Given the description of an element on the screen output the (x, y) to click on. 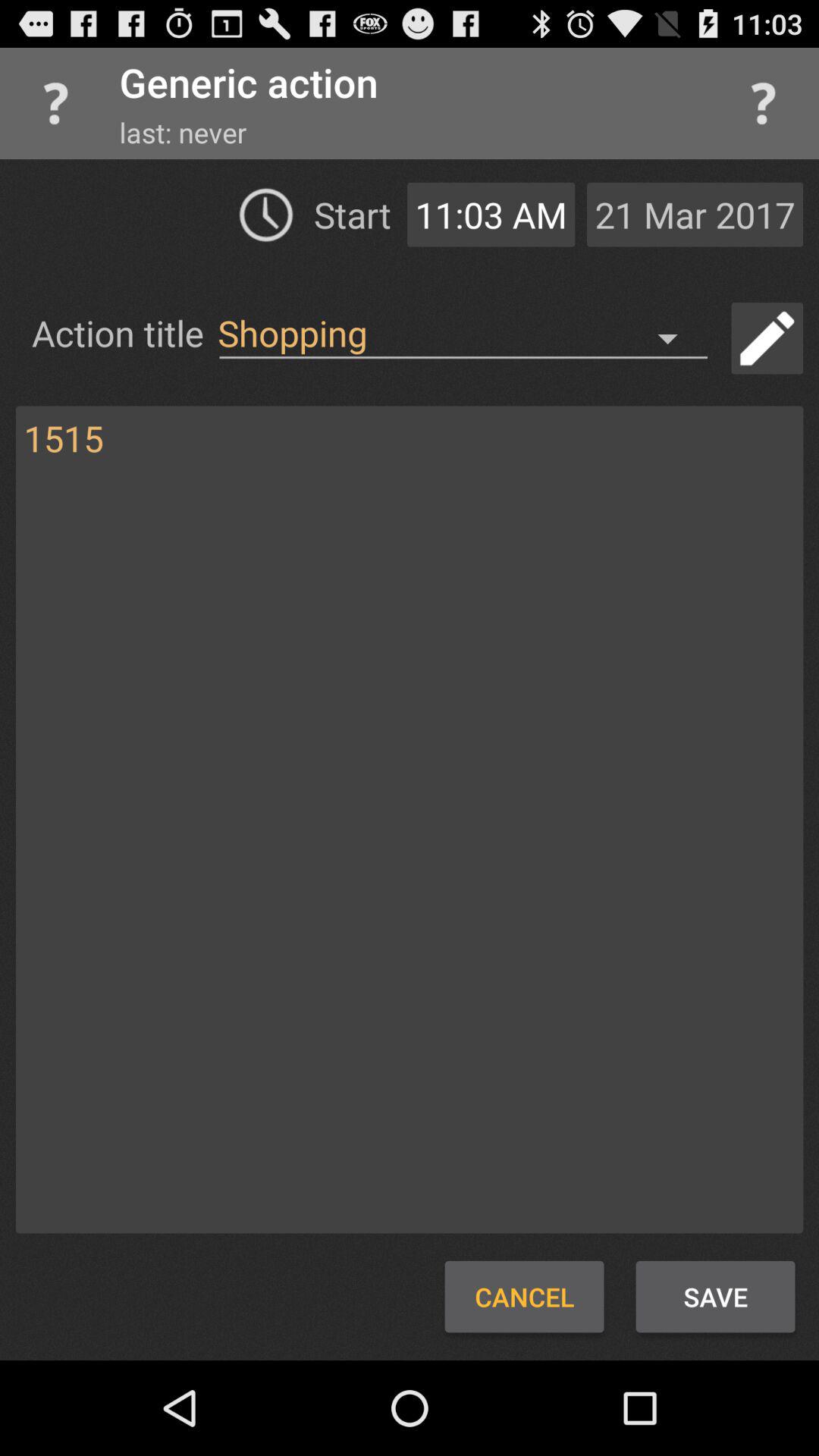
edit title (767, 338)
